Given the description of an element on the screen output the (x, y) to click on. 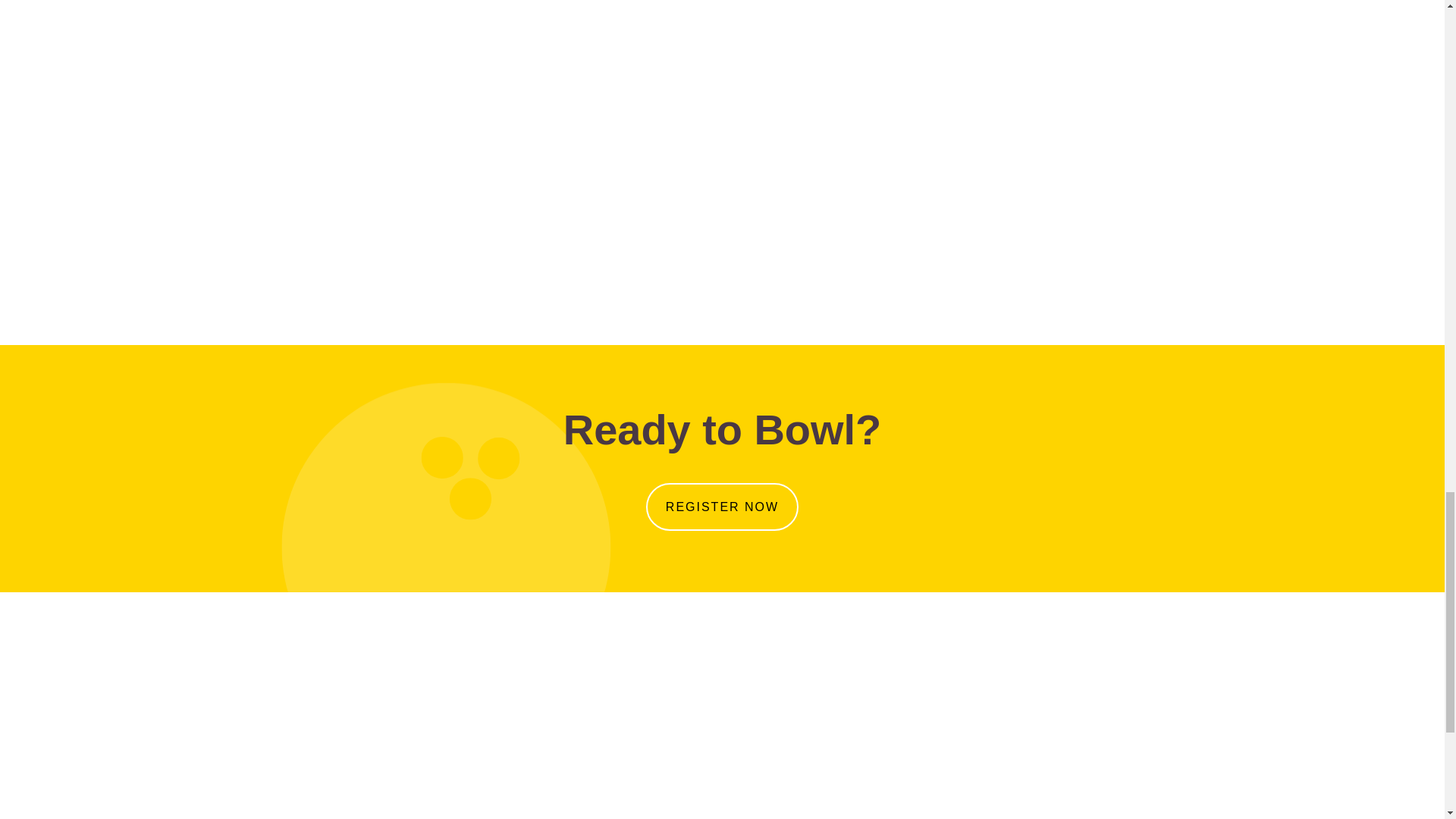
REGISTER NOW (721, 506)
